Given the description of an element on the screen output the (x, y) to click on. 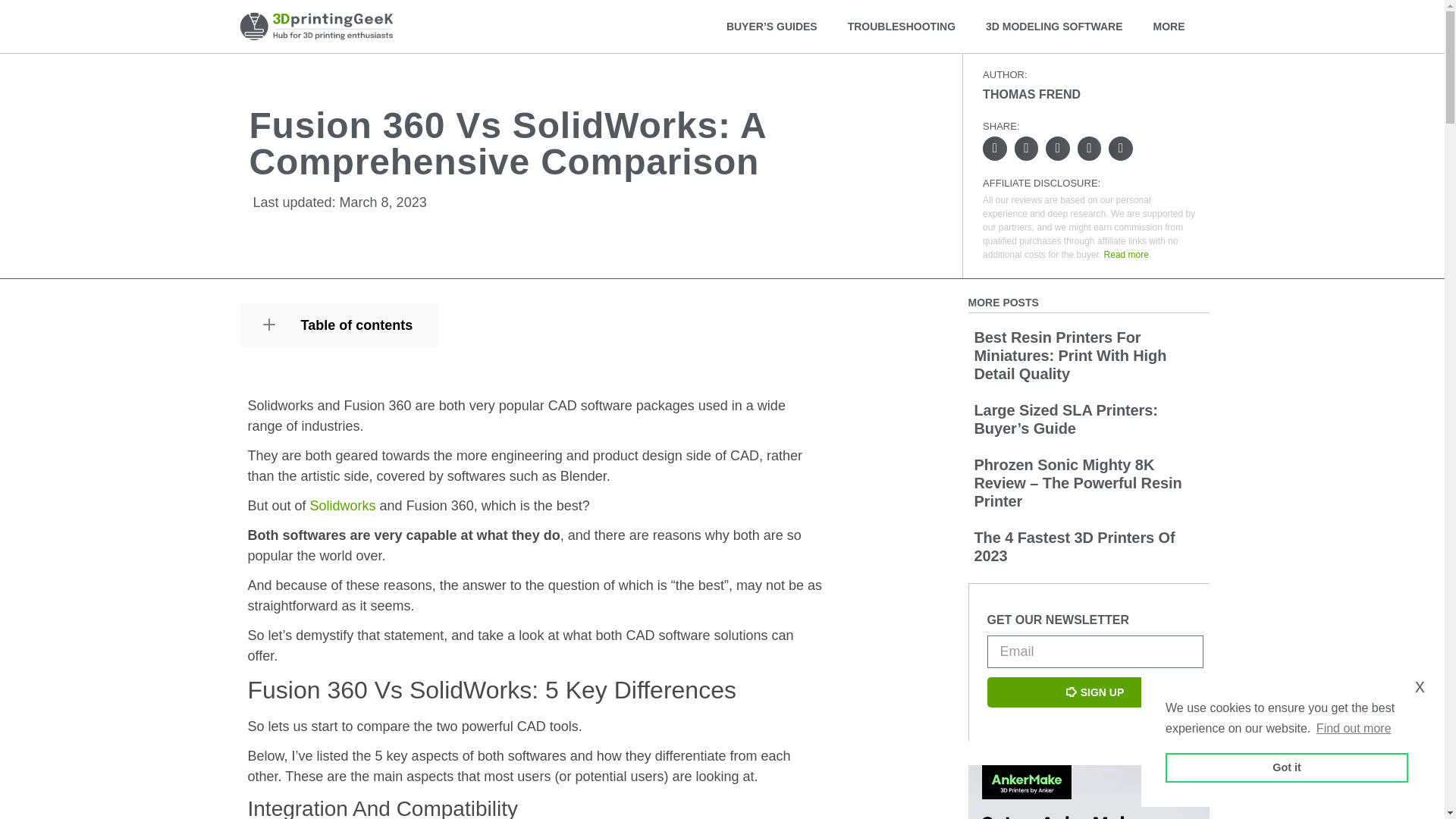
3D MODELING SOFTWARE (1054, 26)
Read more (1125, 254)
MORE (1172, 26)
TROUBLESHOOTING (901, 26)
THOMAS FREND (1031, 94)
